Given the description of an element on the screen output the (x, y) to click on. 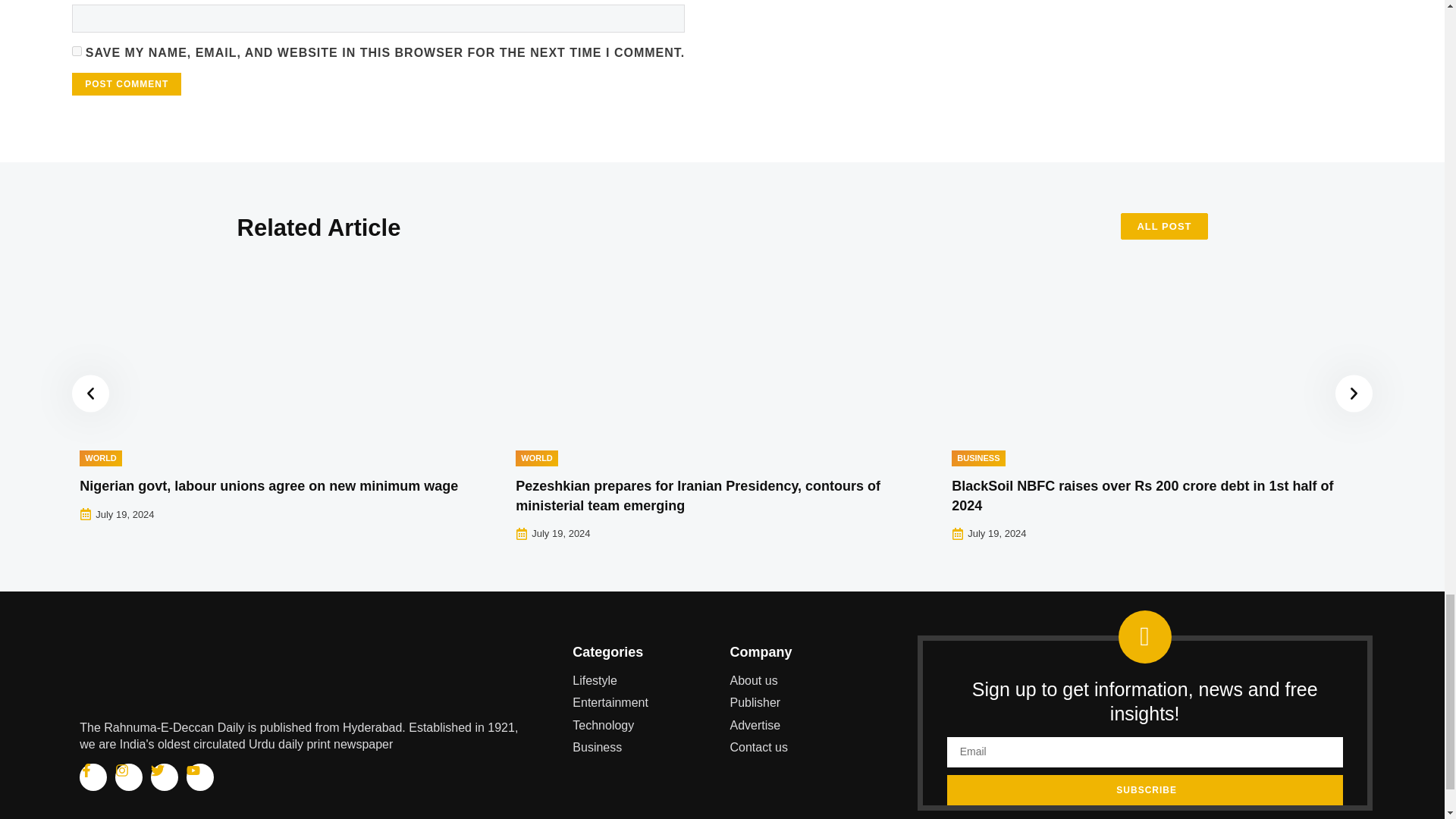
yes (76, 50)
Post Comment (125, 83)
